Given the description of an element on the screen output the (x, y) to click on. 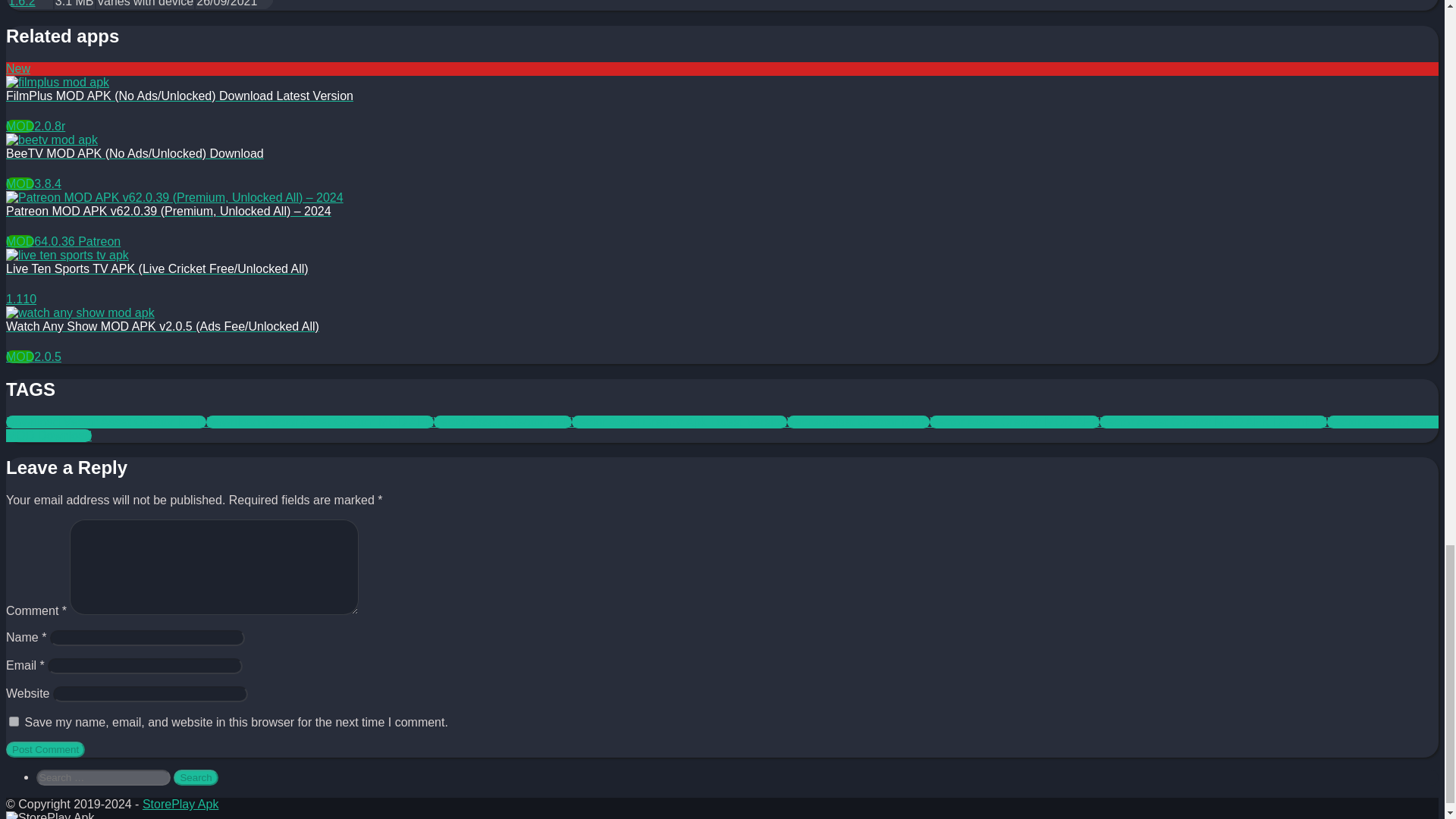
Post Comment (44, 749)
Search (194, 777)
yes (13, 721)
Search (194, 777)
